Given the description of an element on the screen output the (x, y) to click on. 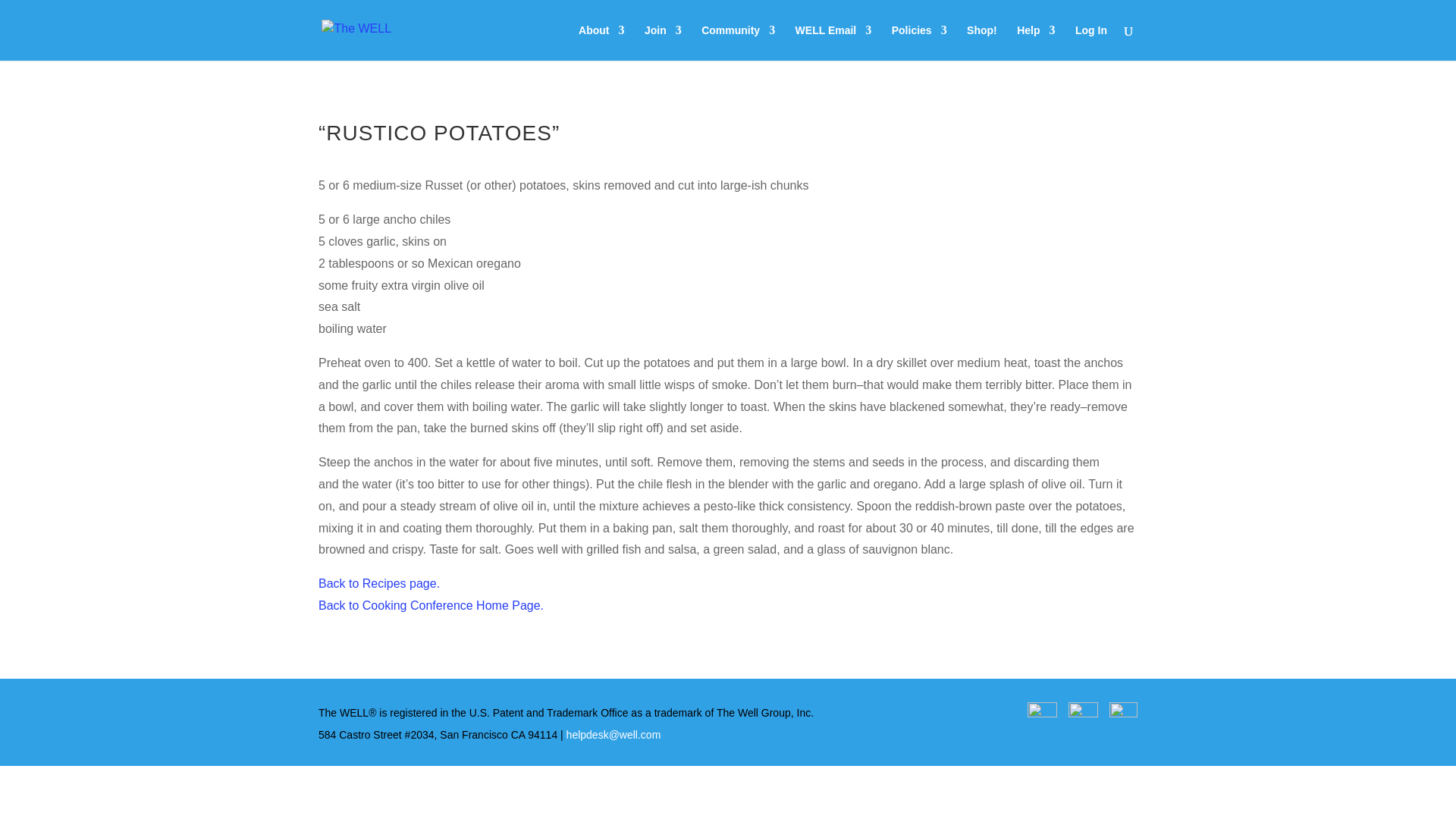
Back to Cooking Conference Home Page. (430, 604)
Join (663, 42)
Log In (1090, 42)
About (601, 42)
Community (737, 42)
Policies (919, 42)
Help (1035, 42)
WELL Email (833, 42)
Back to Recipes page. (378, 583)
